Given the description of an element on the screen output the (x, y) to click on. 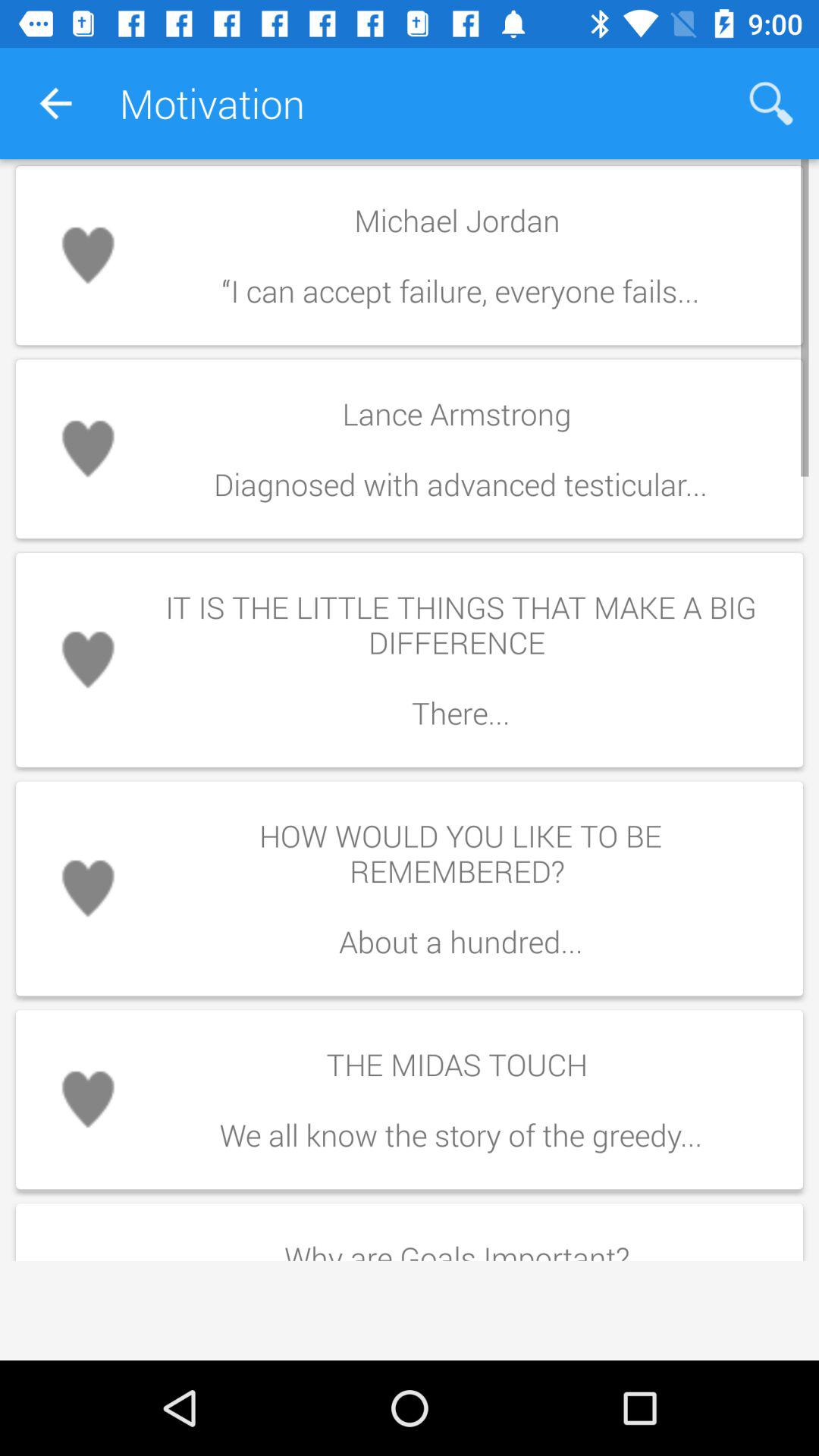
turn on icon to the right of the motivation (771, 103)
